Given the description of an element on the screen output the (x, y) to click on. 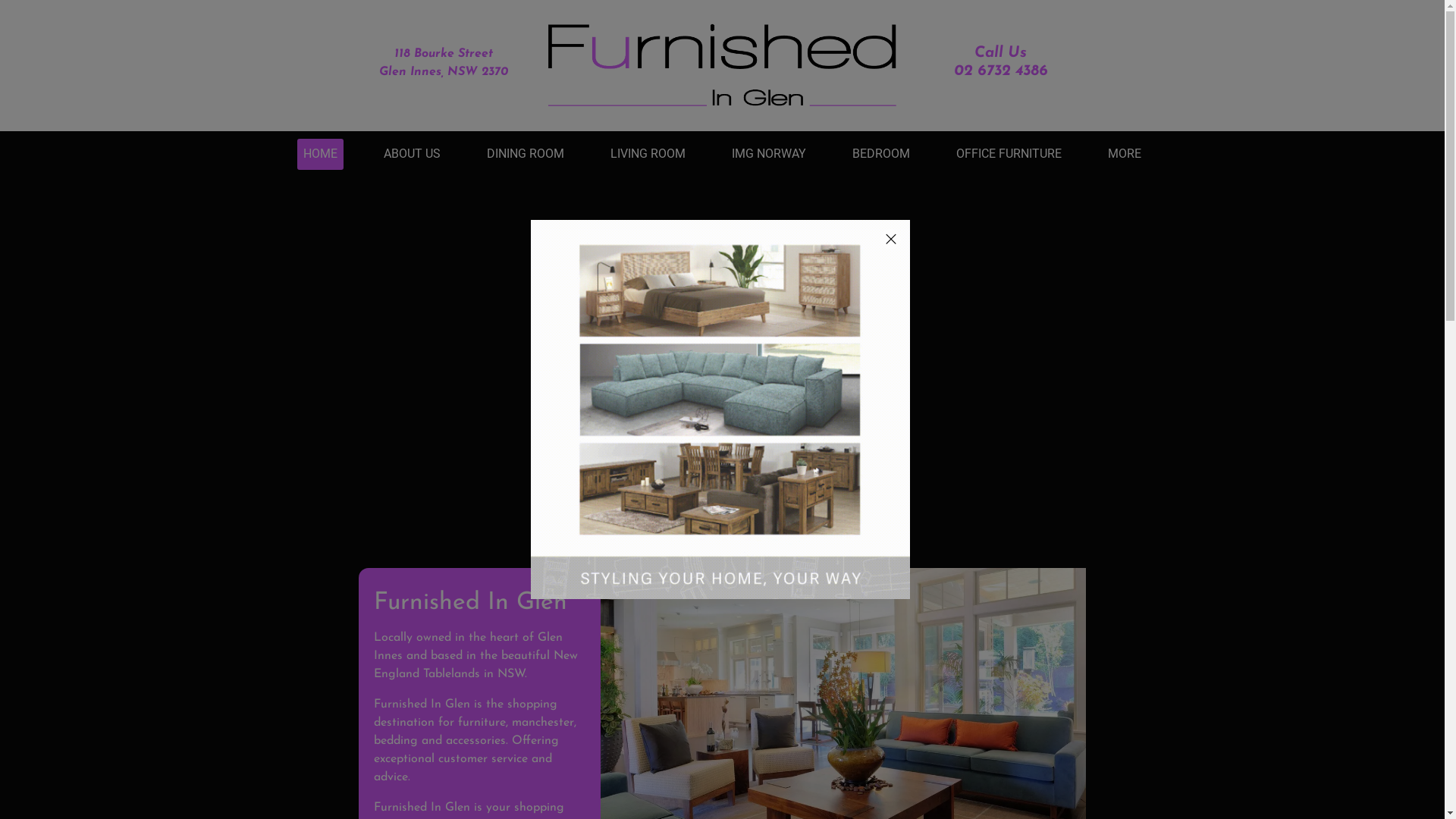
ABOUT US Element type: text (411, 153)
BEDROOM Element type: text (881, 153)
HOME Element type: text (320, 153)
OFFICE FURNITURE Element type: text (1008, 153)
IMG NORWAY Element type: text (768, 153)
DINING ROOM Element type: text (525, 153)
MORE Element type: text (1124, 153)
LIVING ROOM Element type: text (647, 153)
